Given the description of an element on the screen output the (x, y) to click on. 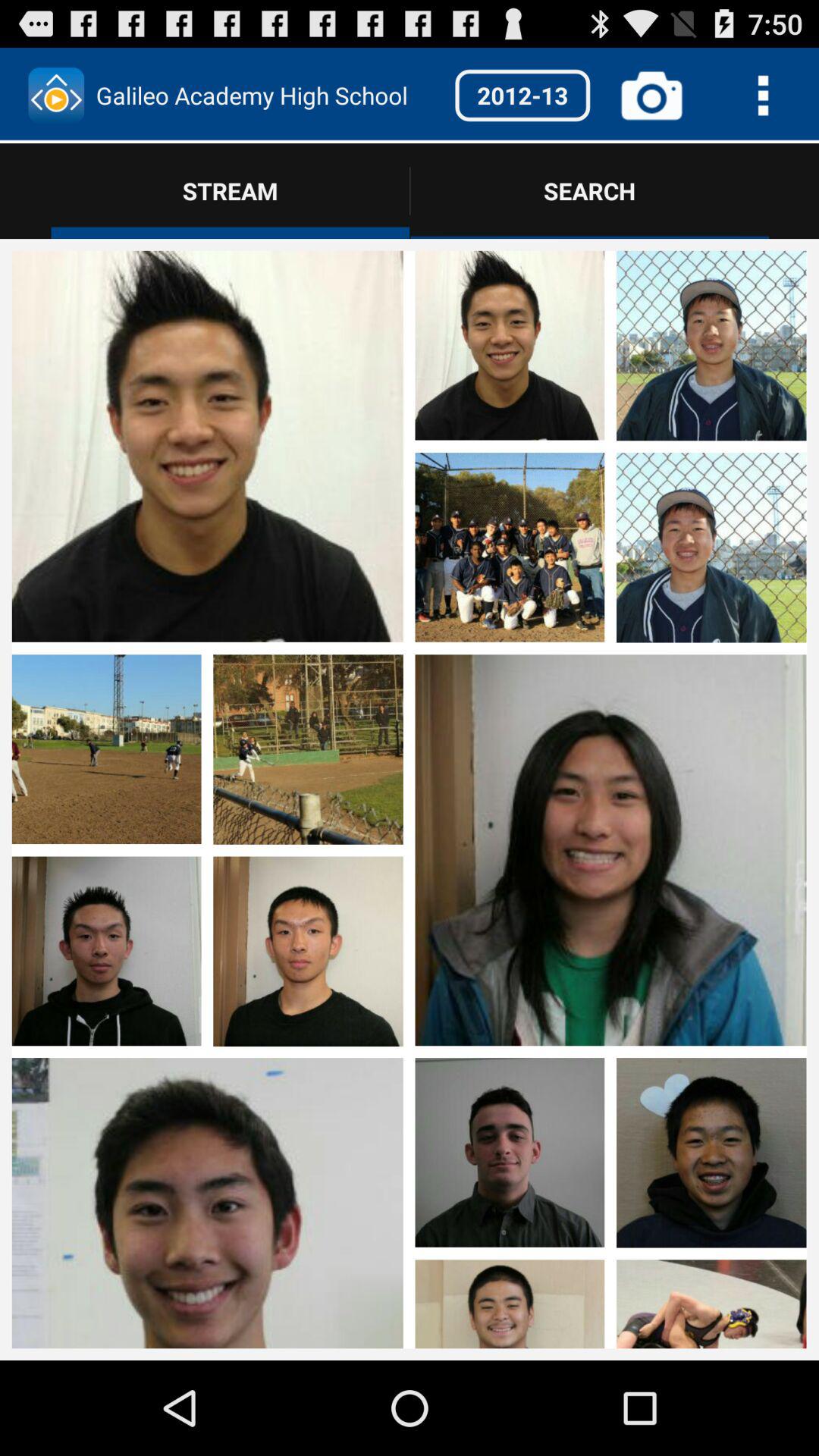
select four top images (610, 447)
